Given the description of an element on the screen output the (x, y) to click on. 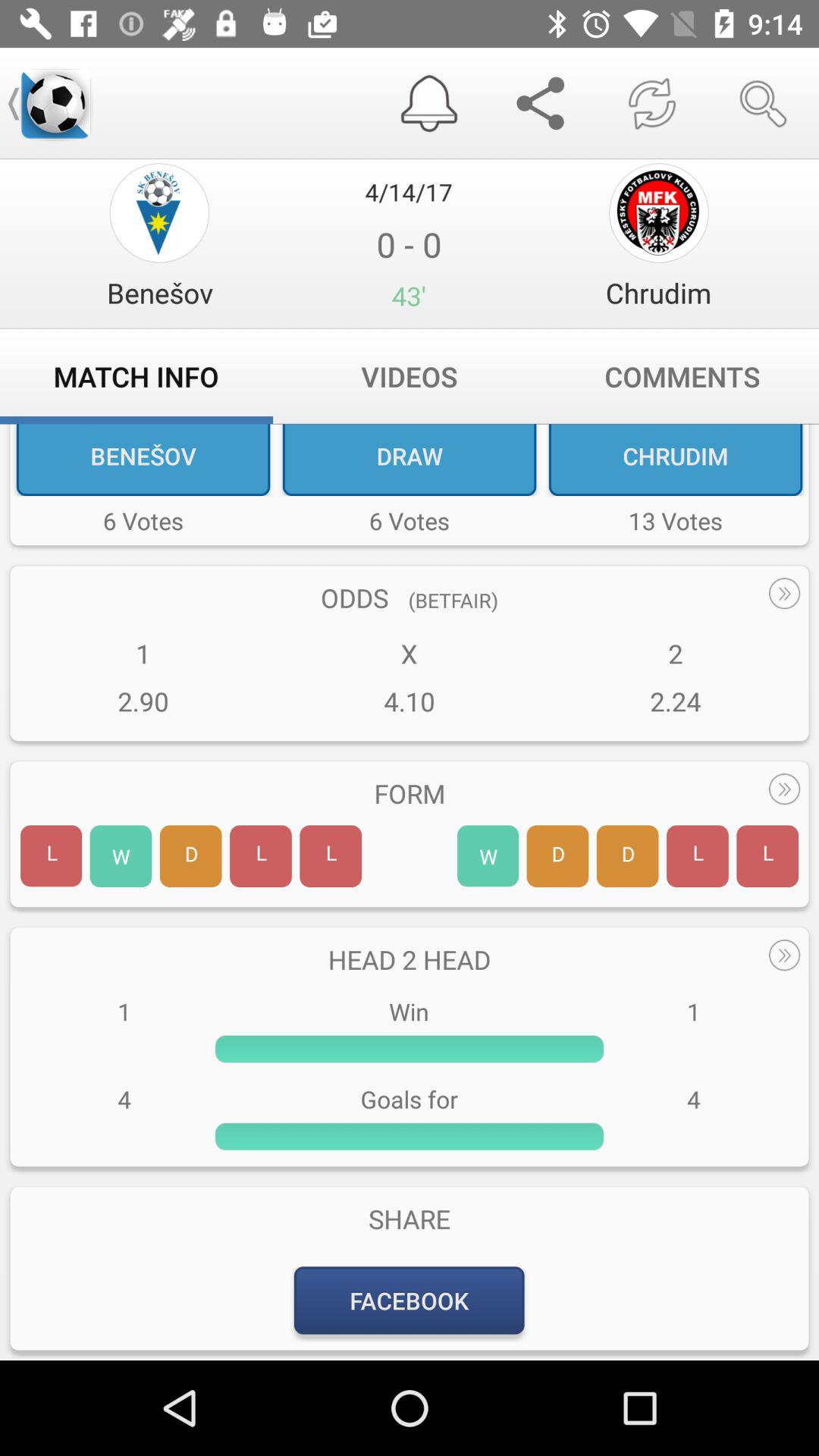
setting page (658, 212)
